Given the description of an element on the screen output the (x, y) to click on. 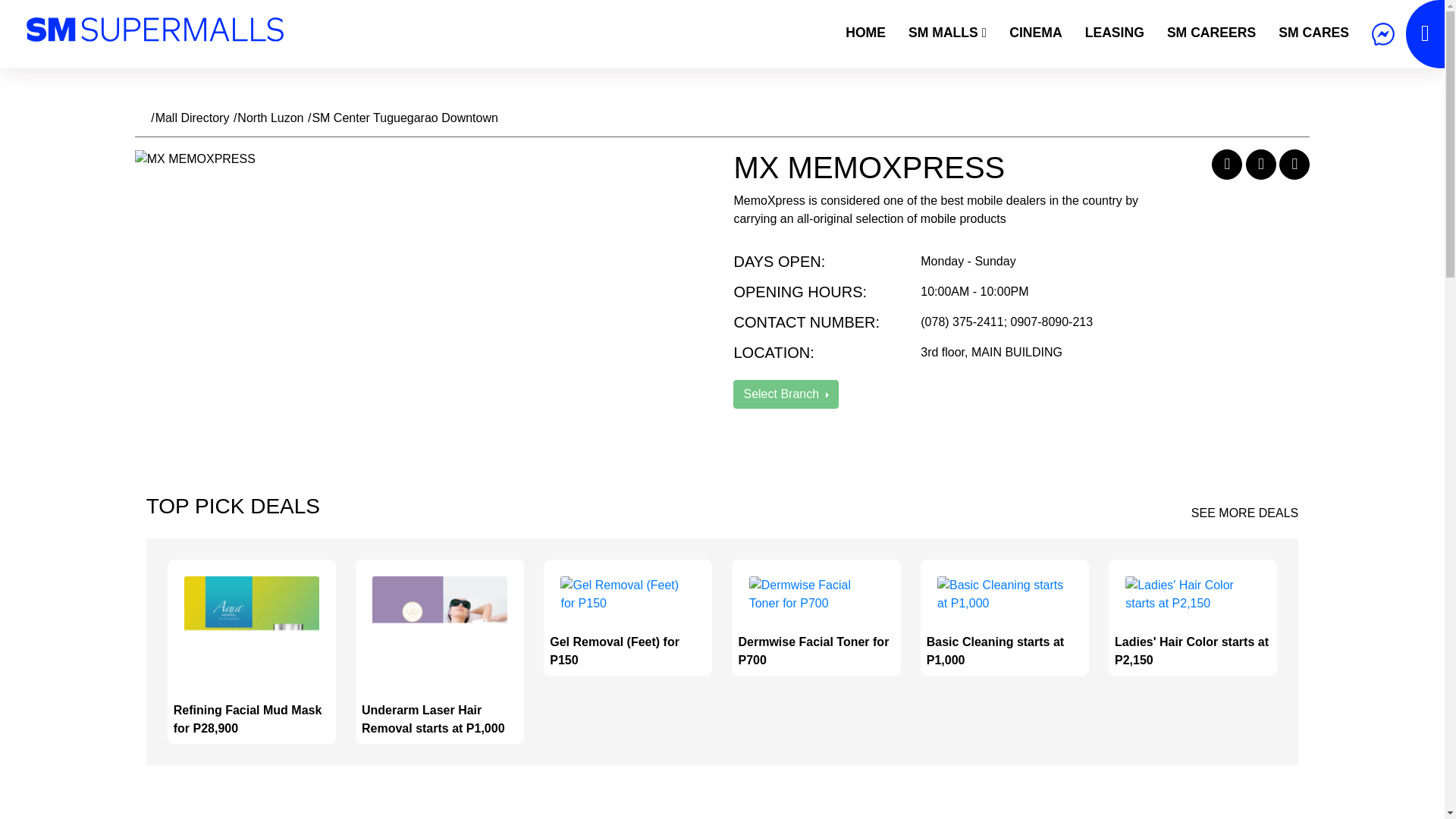
CINEMA (1035, 32)
SM MALLS (946, 32)
Mall Directory (192, 117)
SM Center Tuguegarao Downtown (404, 117)
SM CAREERS (1211, 32)
North Luzon (269, 117)
Select Branch (785, 394)
SM CARES (1312, 32)
HOME (865, 32)
LEASING (1115, 32)
